Given the description of an element on the screen output the (x, y) to click on. 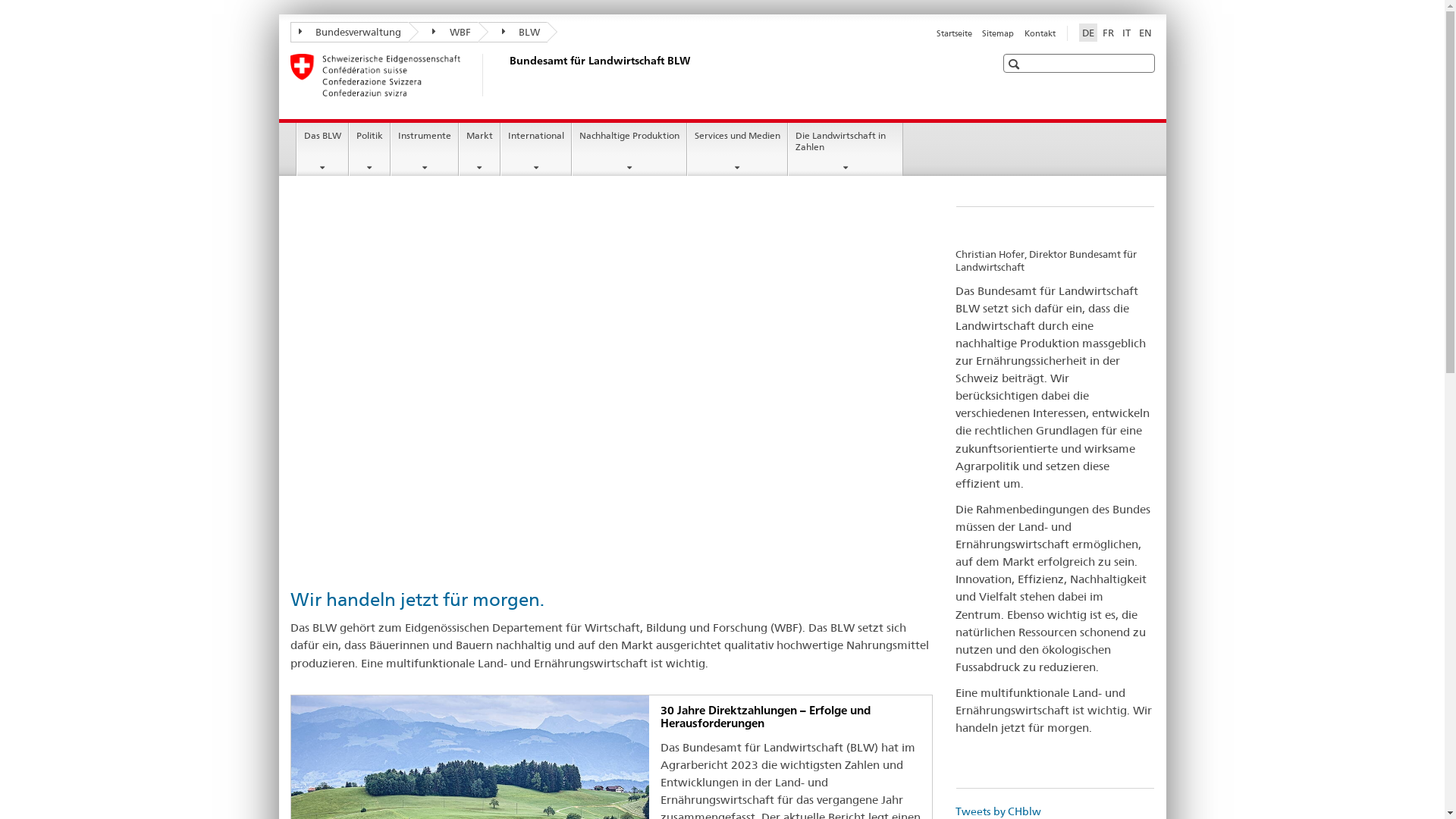
Sitemap Element type: text (997, 33)
DE Element type: text (1087, 32)
International Element type: text (536, 148)
Startseite Element type: text (954, 33)
IT Element type: text (1126, 32)
Nachhaltige Produktion Element type: text (629, 148)
Die Landwirtschaft in Zahlen Element type: text (845, 148)
Bundesverwaltung Element type: text (348, 31)
YouTube video player Element type: hover (610, 386)
Politik Element type: text (369, 148)
WBF Element type: text (443, 31)
Markt Element type: text (479, 148)
Kontakt Element type: text (1038, 33)
Services und Medien Element type: text (737, 148)
Instrumente Element type: text (424, 148)
EN Element type: text (1144, 32)
Tweets by CHblw Element type: text (998, 811)
FR Element type: text (1108, 32)
Das BLW Element type: text (322, 148)
BLW Element type: text (512, 31)
